Given the description of an element on the screen output the (x, y) to click on. 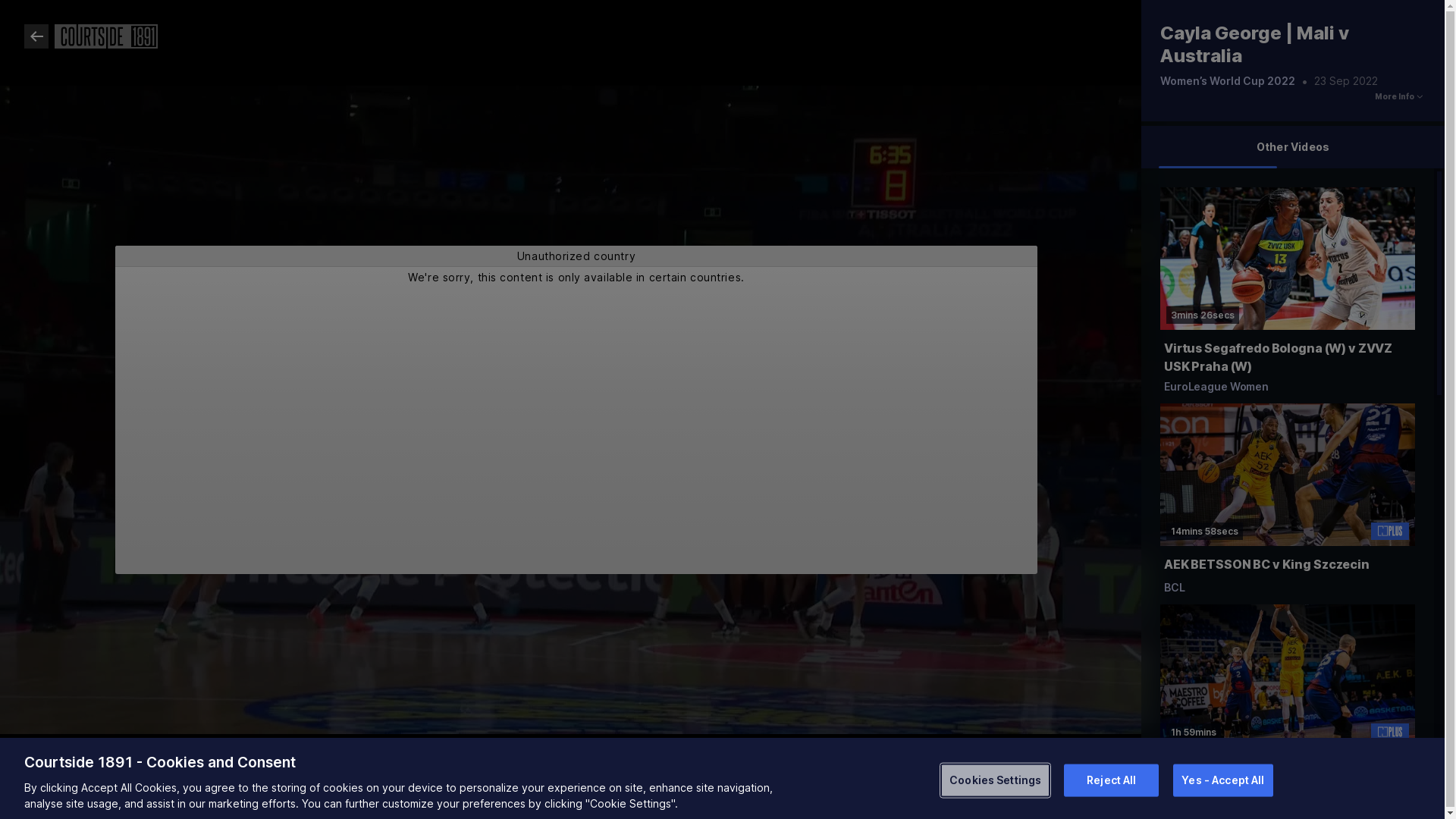
More Info Element type: text (1394, 96)
Other Videos Element type: text (1292, 146)
Cookies Settings Element type: text (995, 779)
1h 59mins
AEK v King Szczecin
BCL Element type: text (1287, 704)
Reject All Element type: text (1110, 779)
14mins 58secs
AEK BETSSON BC v King Szczecin
BCL Element type: text (1287, 503)
Yes - Accept All Element type: text (1222, 779)
